Given the description of an element on the screen output the (x, y) to click on. 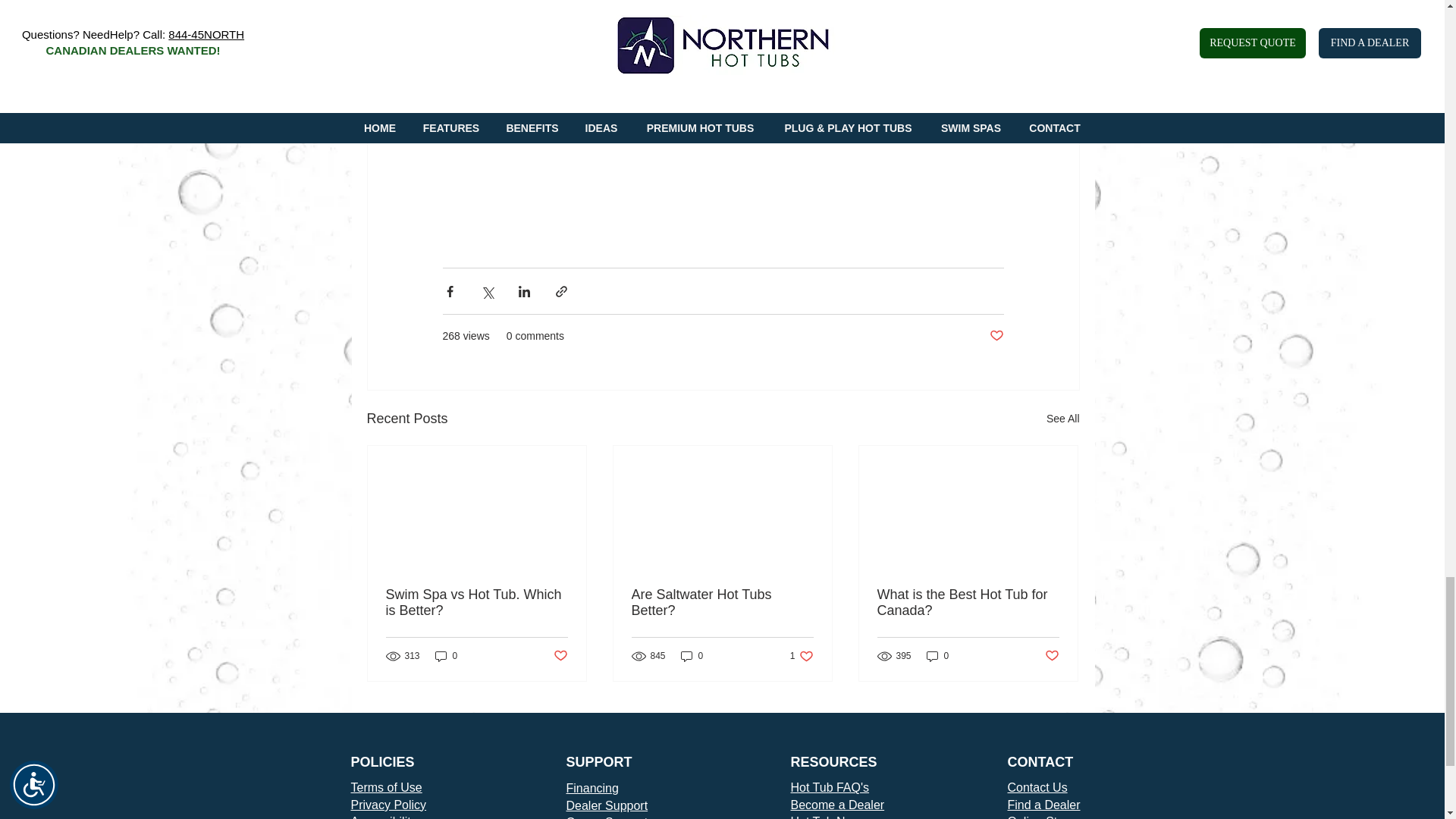
What is the Best Hot Tub for Canada? (967, 603)
Privacy Policy (388, 804)
Post not marked as liked (995, 335)
0 (446, 656)
See All (1063, 418)
0 (801, 656)
Swim Spa vs Hot Tub. Which is Better? (691, 656)
Terms of Use (476, 603)
Are Saltwater Hot Tubs Better? (386, 787)
Post not marked as liked (721, 603)
Post not marked as liked (1052, 656)
0 (560, 656)
